Given the description of an element on the screen output the (x, y) to click on. 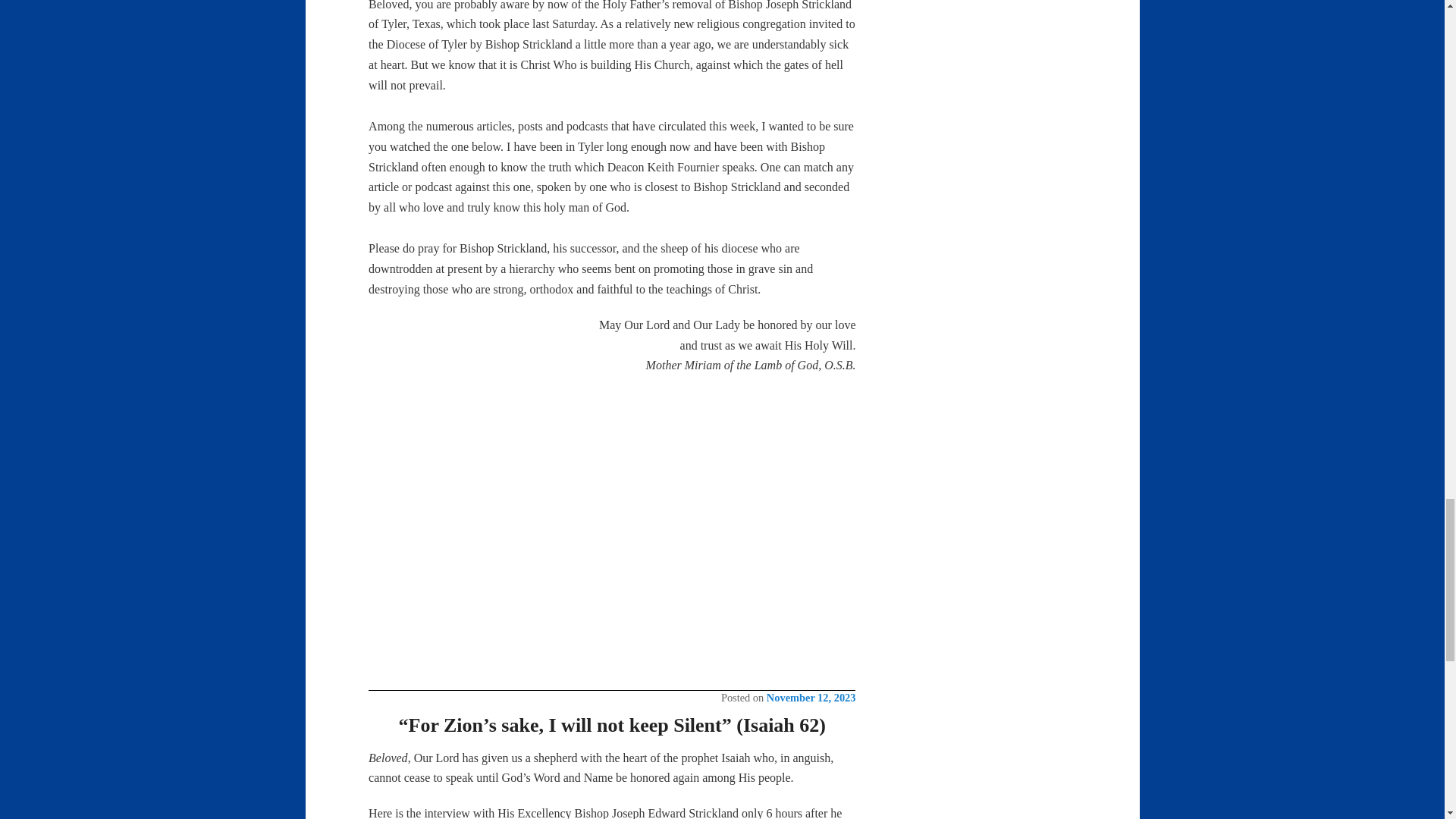
November 12, 2023 (811, 697)
11:19 pm (811, 697)
